Given the description of an element on the screen output the (x, y) to click on. 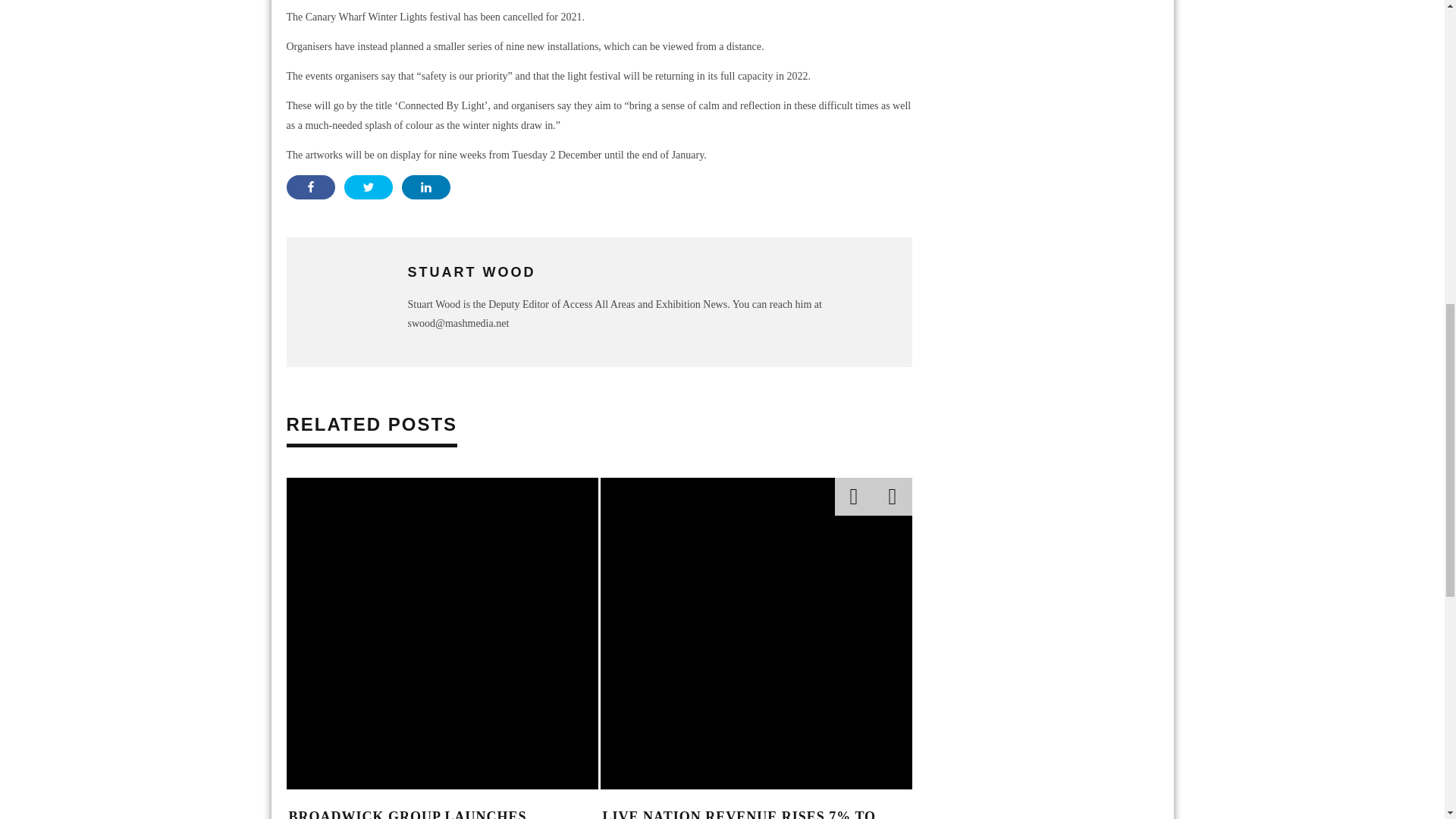
Share on Twitter (368, 187)
Share on Facebook (310, 187)
Share on LinkedIn (425, 187)
